Given the description of an element on the screen output the (x, y) to click on. 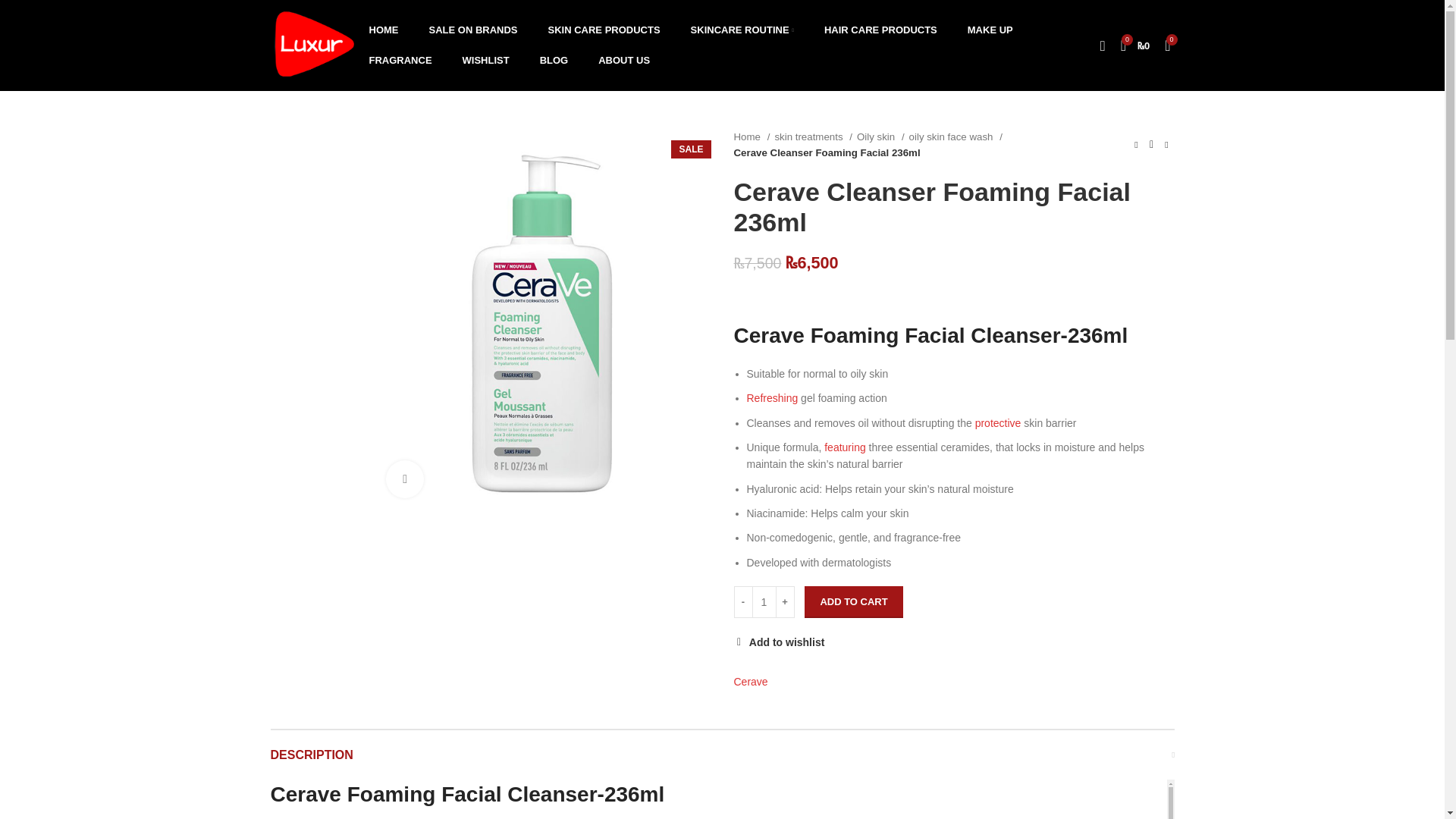
HOME (383, 30)
WISHLIST (485, 60)
FRAGRANCE (399, 60)
HAIR CARE PRODUCTS (880, 30)
BLOG (553, 60)
Shopping cart (1135, 45)
SALE ON BRANDS (472, 30)
View brand (750, 681)
MAKE UP (989, 30)
ABOUT US (624, 60)
